Given the description of an element on the screen output the (x, y) to click on. 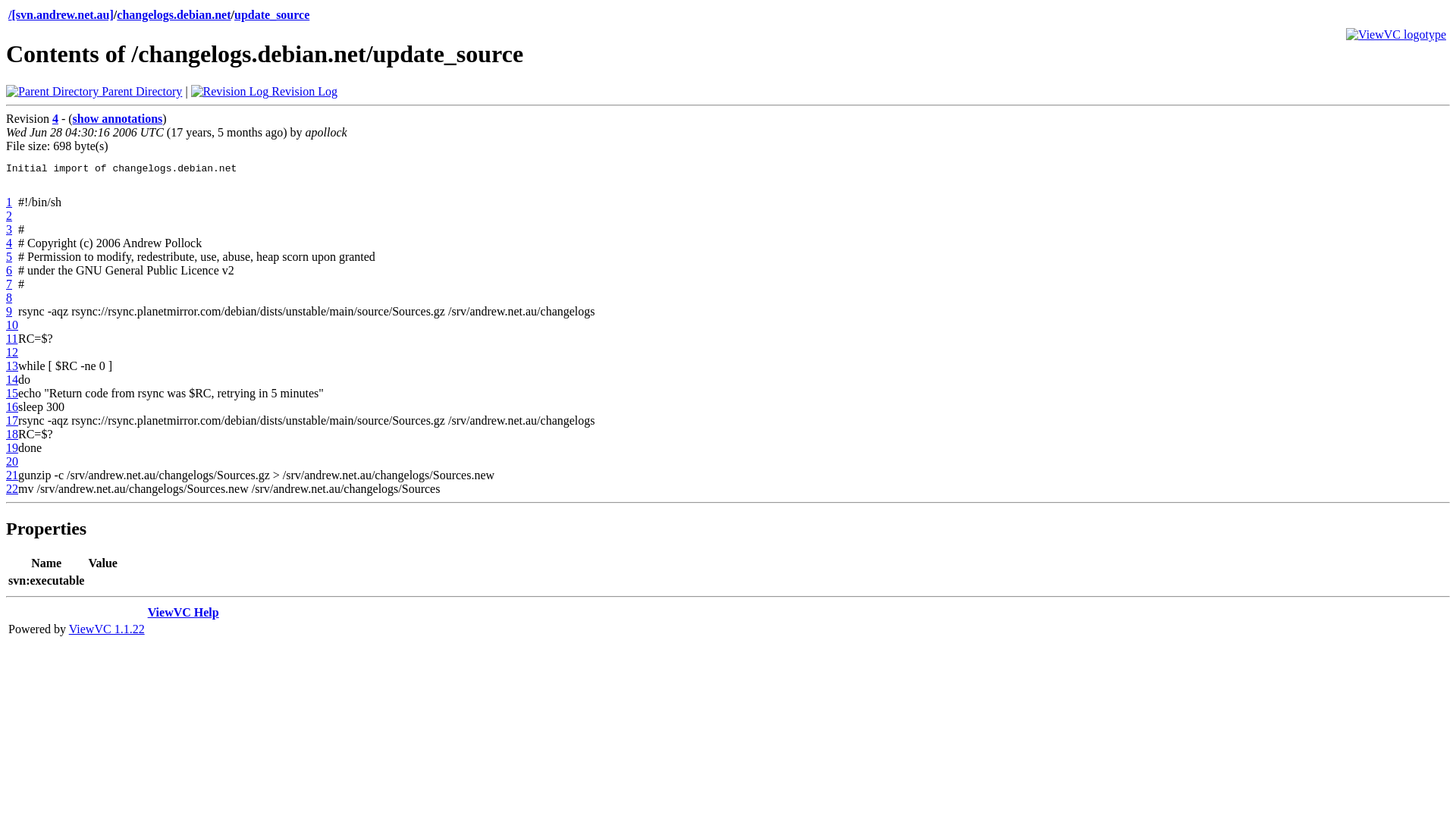
20 Element type: text (12, 461)
2 Element type: text (9, 215)
12 Element type: text (12, 351)
7 Element type: text (9, 283)
Revision Log Element type: text (264, 90)
update_source Element type: text (271, 14)
21 Element type: text (12, 474)
5 Element type: text (9, 256)
4 Element type: text (55, 118)
ViewVC Help Element type: text (183, 611)
changelogs.debian.net Element type: text (173, 14)
/ Element type: text (9, 14)
13 Element type: text (12, 365)
11 Element type: text (11, 338)
[svn.andrew.net.au] Element type: text (61, 14)
1 Element type: text (9, 201)
10 Element type: text (12, 324)
19 Element type: text (12, 447)
6 Element type: text (9, 269)
show annotations Element type: text (117, 118)
3 Element type: text (9, 228)
4 Element type: text (9, 242)
ViewVC 1.1.22 Element type: text (106, 628)
ViewVC Home Element type: hover (1396, 34)
8 Element type: text (9, 297)
17 Element type: text (12, 420)
22 Element type: text (12, 488)
Parent Directory Element type: text (94, 90)
18 Element type: text (12, 433)
9 Element type: text (9, 310)
14 Element type: text (12, 379)
15 Element type: text (12, 392)
16 Element type: text (12, 406)
